Given the description of an element on the screen output the (x, y) to click on. 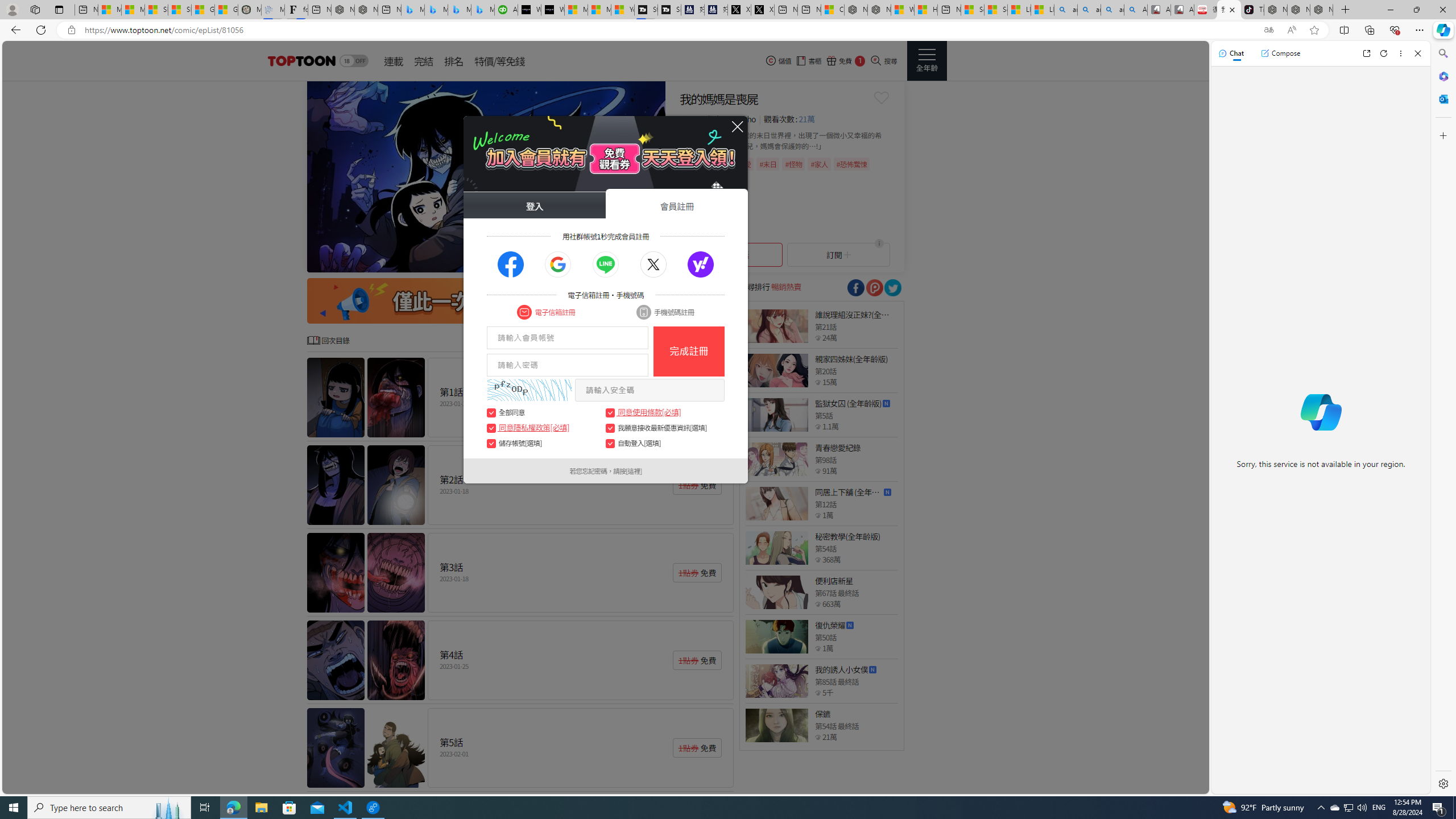
TikTok (1252, 9)
Microsoft Start Sports (575, 9)
Wildlife - MSN (902, 9)
Nordace - Best Sellers (1275, 9)
Class: epicon_starpoint (818, 736)
Class: swiper-slide swiper-slide-duplicate-next (486, 176)
Go to slide 8 (633, 261)
